Given the description of an element on the screen output the (x, y) to click on. 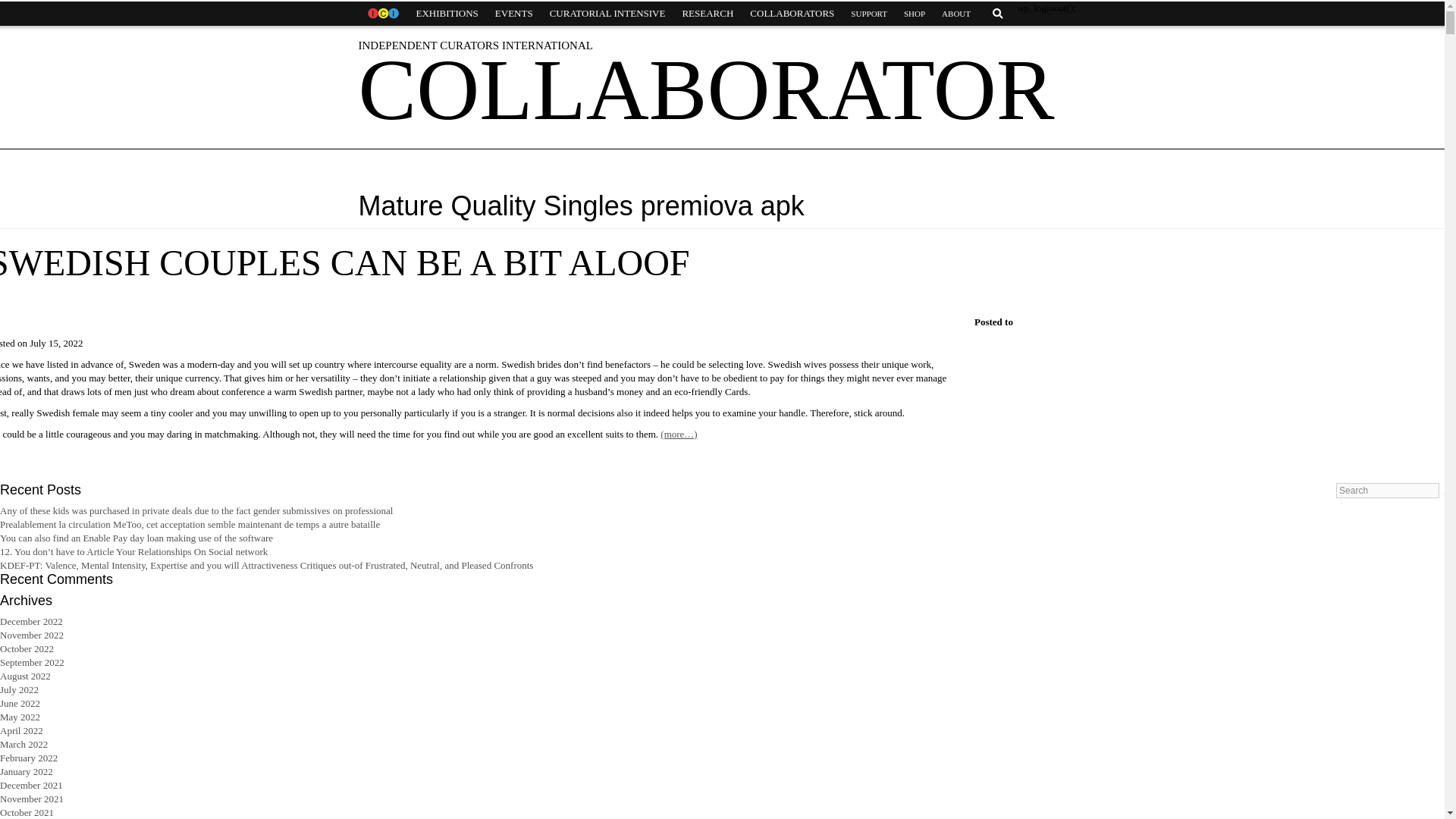
EXHIBITIONS (446, 13)
CURATORIAL INTENSIVE (607, 13)
COLLABORATORS (792, 13)
RESEARCH (706, 13)
EVENTS (513, 13)
HOME (382, 13)
